Given the description of an element on the screen output the (x, y) to click on. 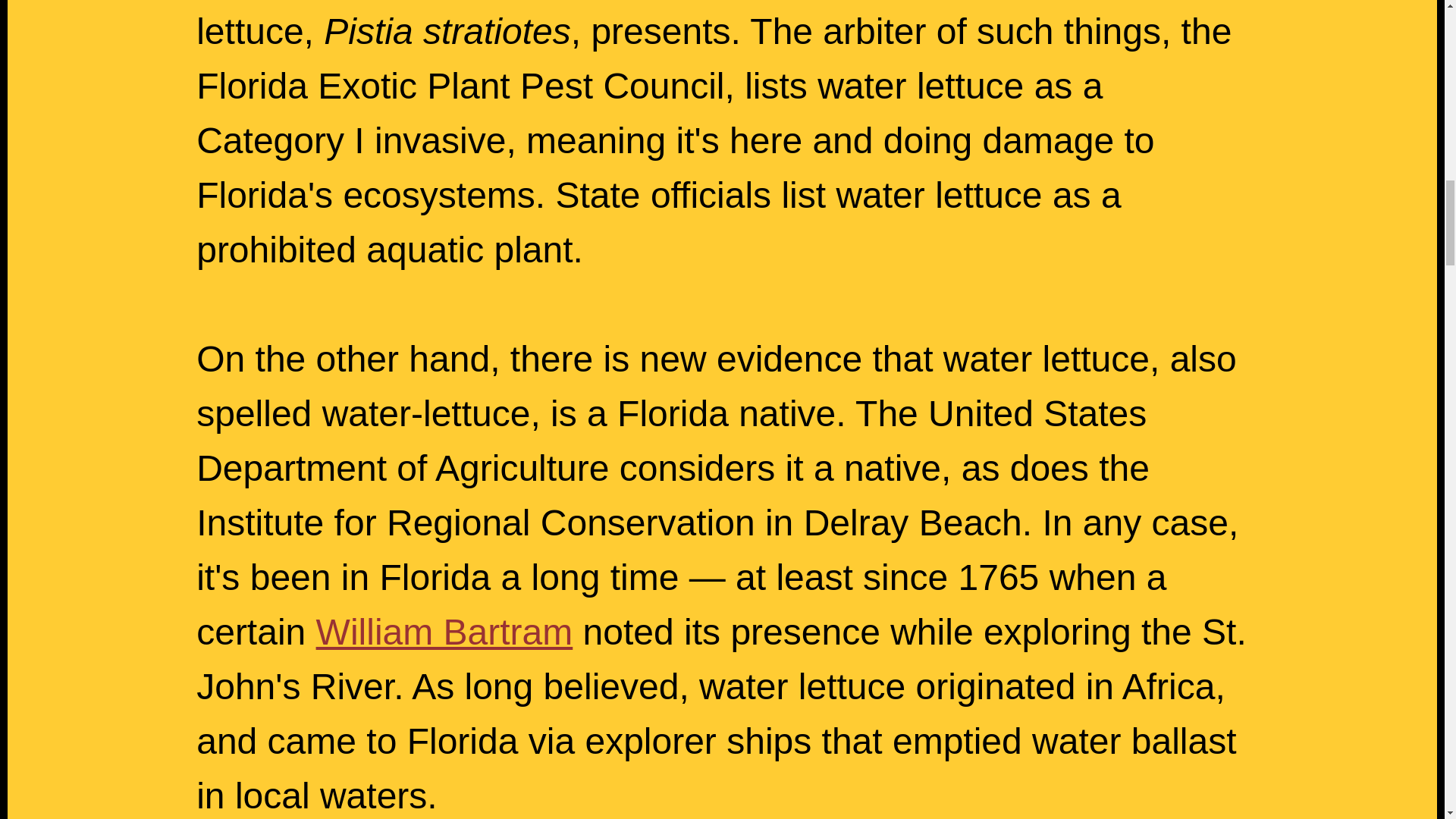
William Bartram (444, 631)
